Given the description of an element on the screen output the (x, y) to click on. 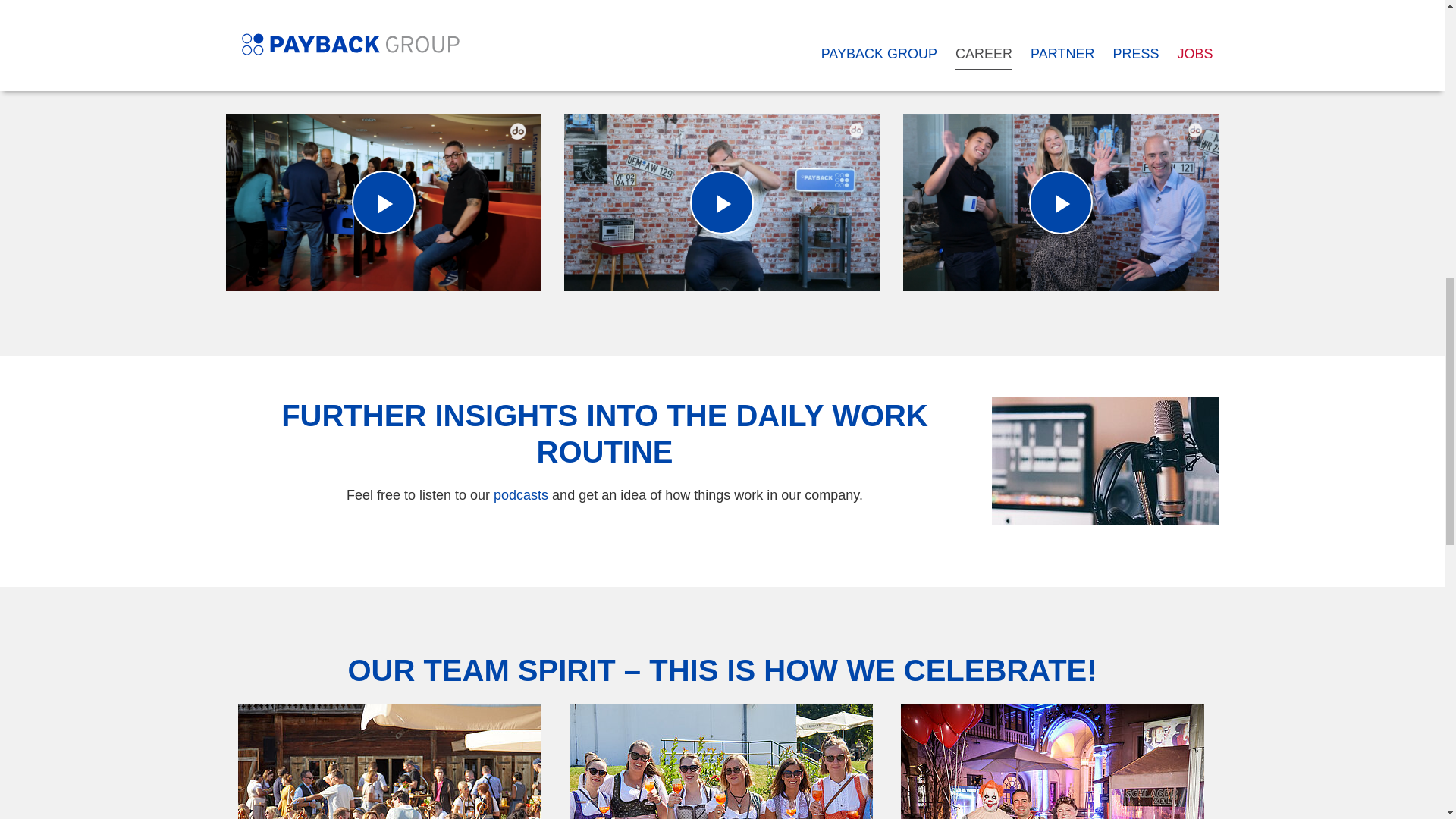
Play Video (383, 202)
Play Video (722, 202)
Play Video (383, 202)
